Given the description of an element on the screen output the (x, y) to click on. 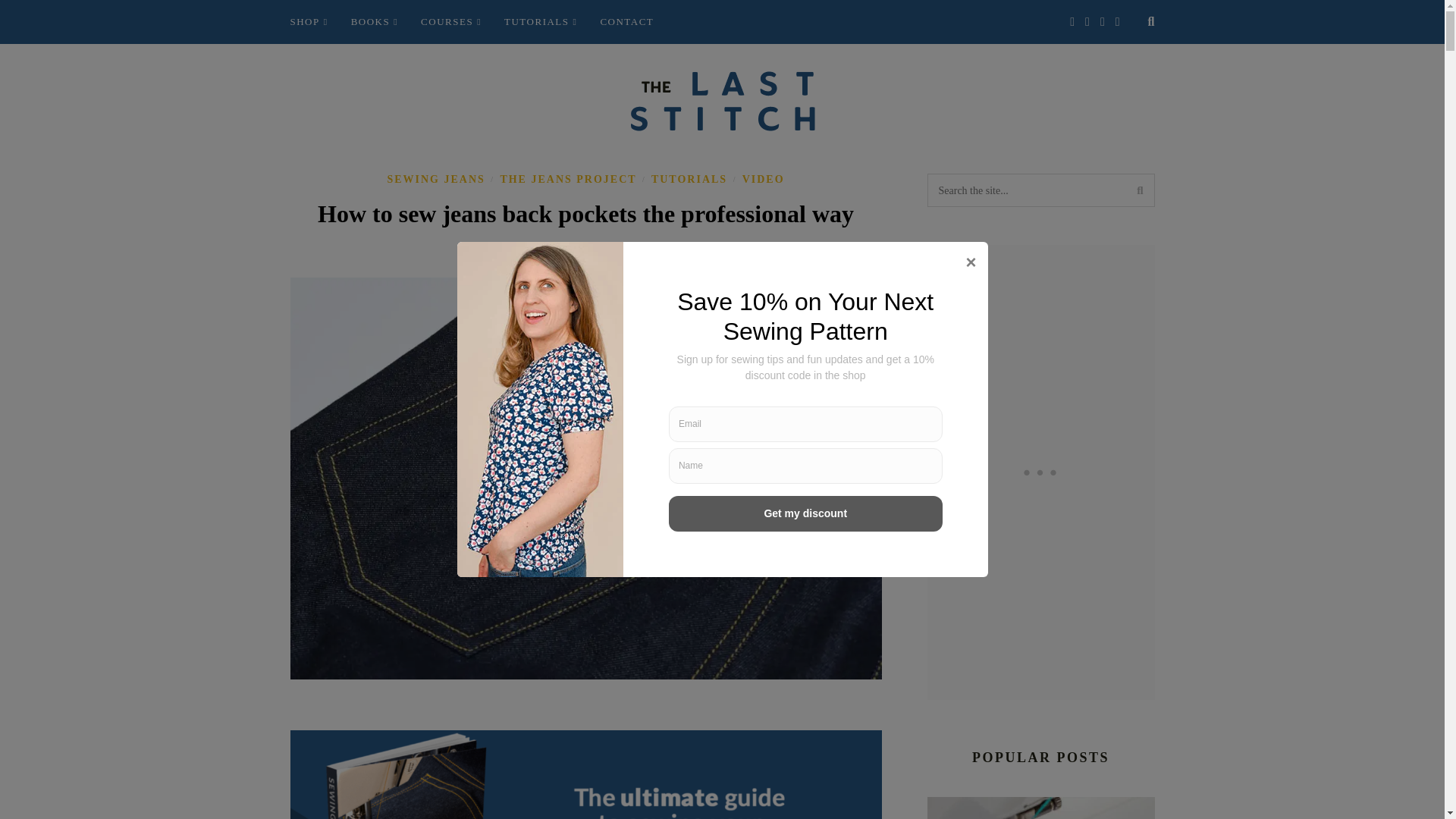
TUTORIALS (539, 22)
BOOKS (373, 22)
COURSES (450, 22)
SHOP (308, 22)
CONTACT (626, 22)
